Given the description of an element on the screen output the (x, y) to click on. 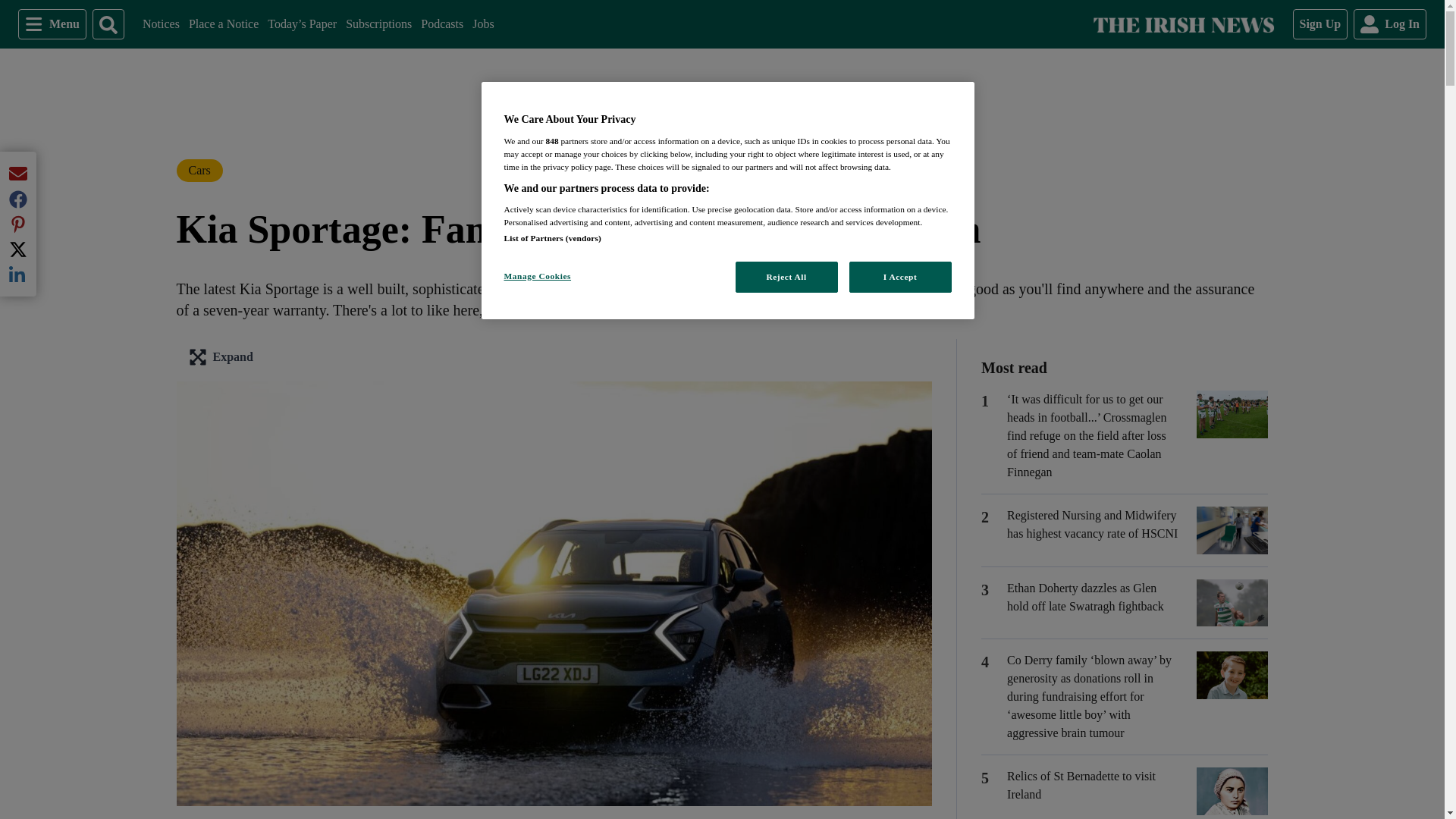
The Irish News (1183, 23)
Subscriptions (224, 24)
Menu (482, 24)
Log In (379, 24)
Podcasts (51, 24)
Sign Up (160, 24)
